Given the description of an element on the screen output the (x, y) to click on. 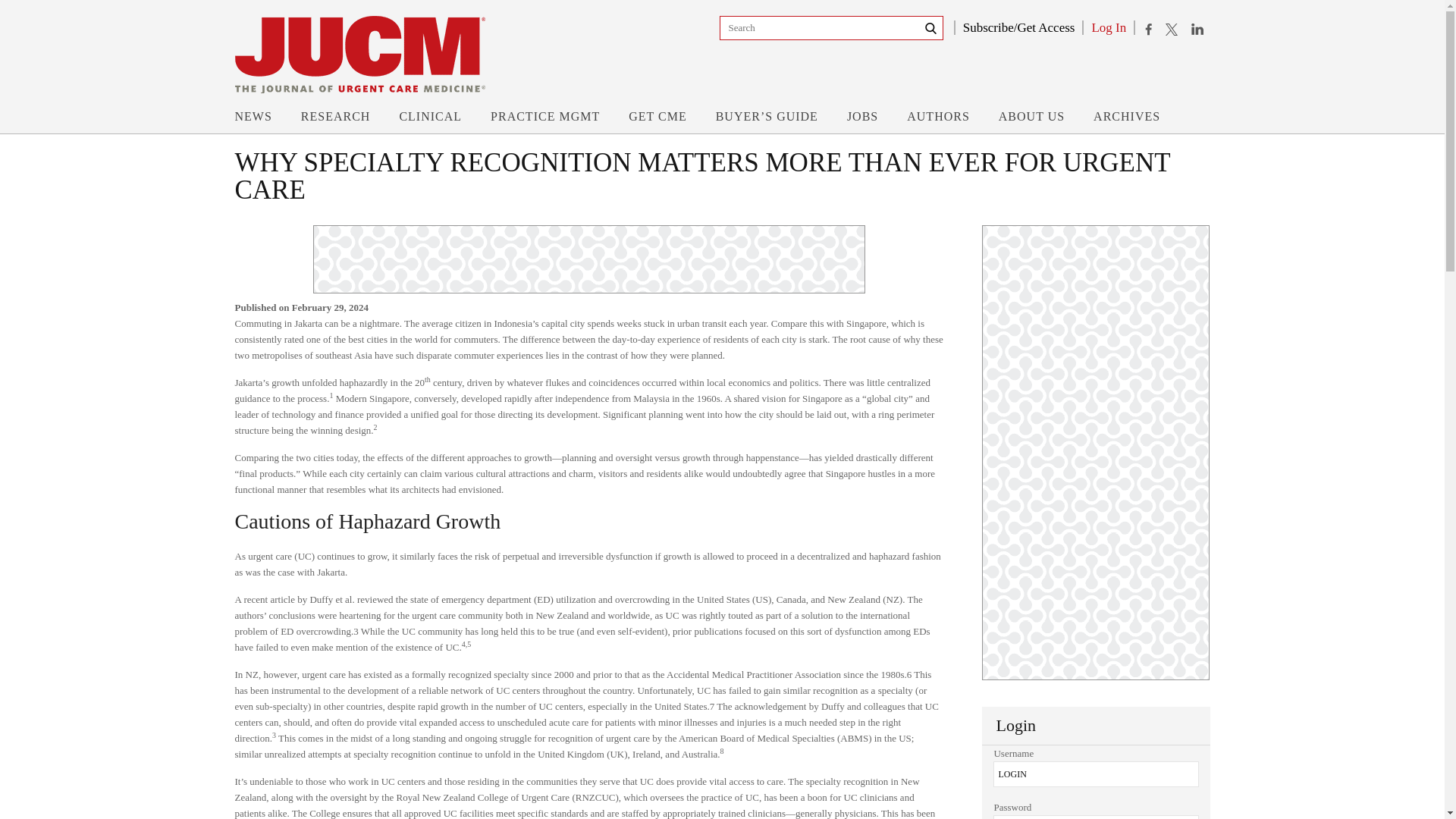
Log In (1109, 27)
NEWS (253, 120)
CLINICAL (429, 120)
RESEARCH (336, 120)
ARCHIVES (1126, 120)
AUTHORS (938, 120)
PRACTICE MGMT (544, 120)
GET CME (656, 120)
ABOUT US (1031, 120)
3rd party ad content (588, 259)
JOBS (862, 120)
